Given the description of an element on the screen output the (x, y) to click on. 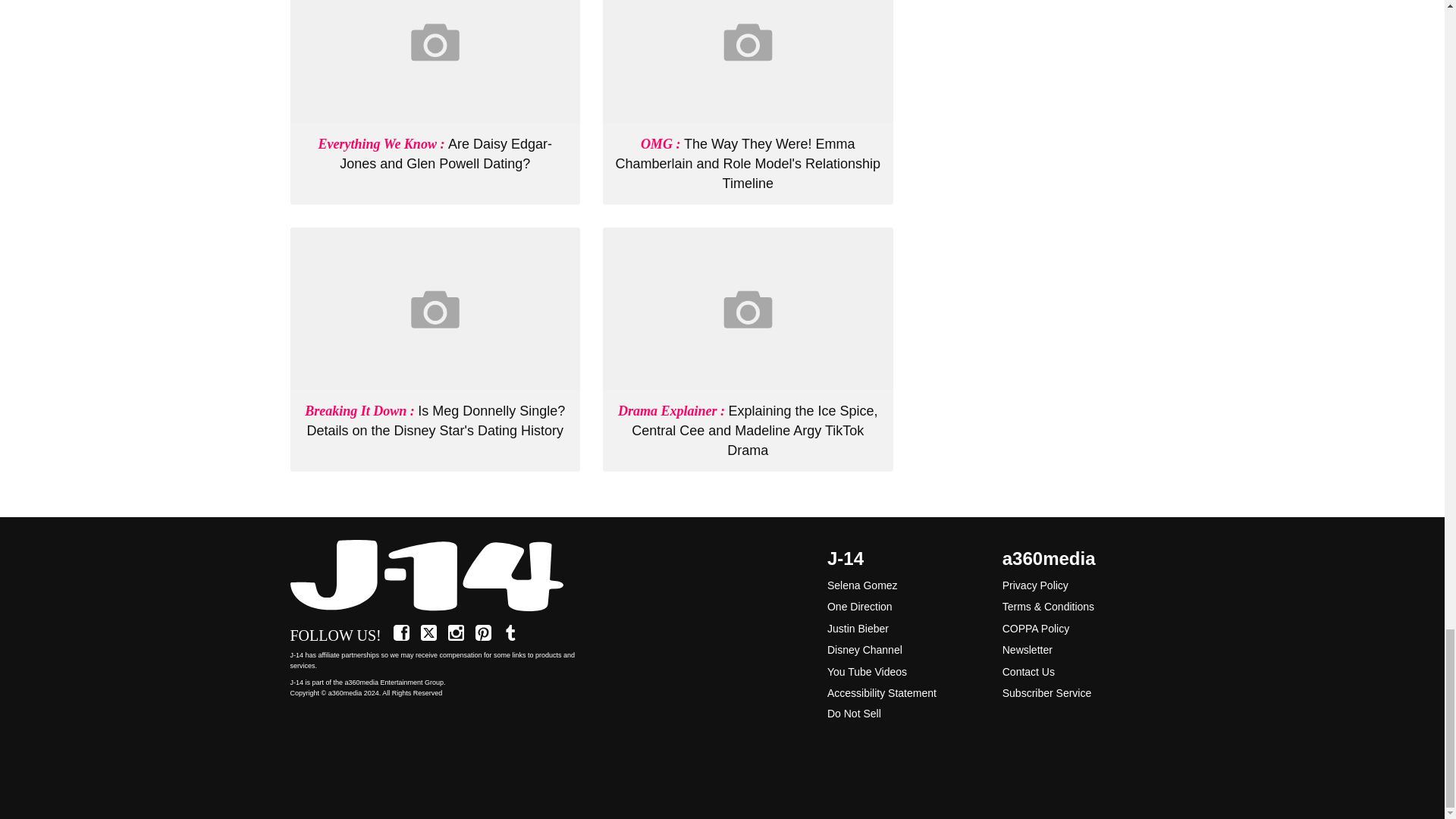
Home (434, 576)
